Given the description of an element on the screen output the (x, y) to click on. 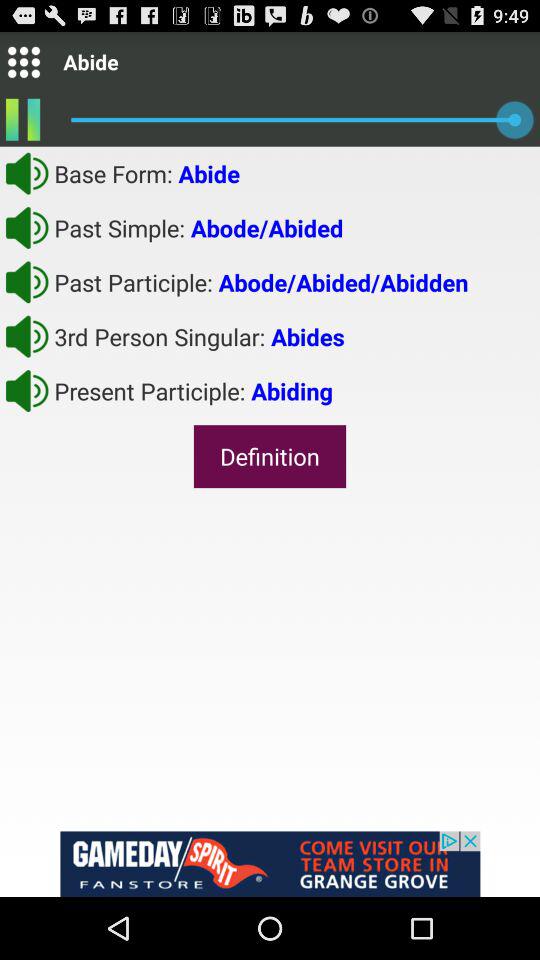
sound option (27, 282)
